Given the description of an element on the screen output the (x, y) to click on. 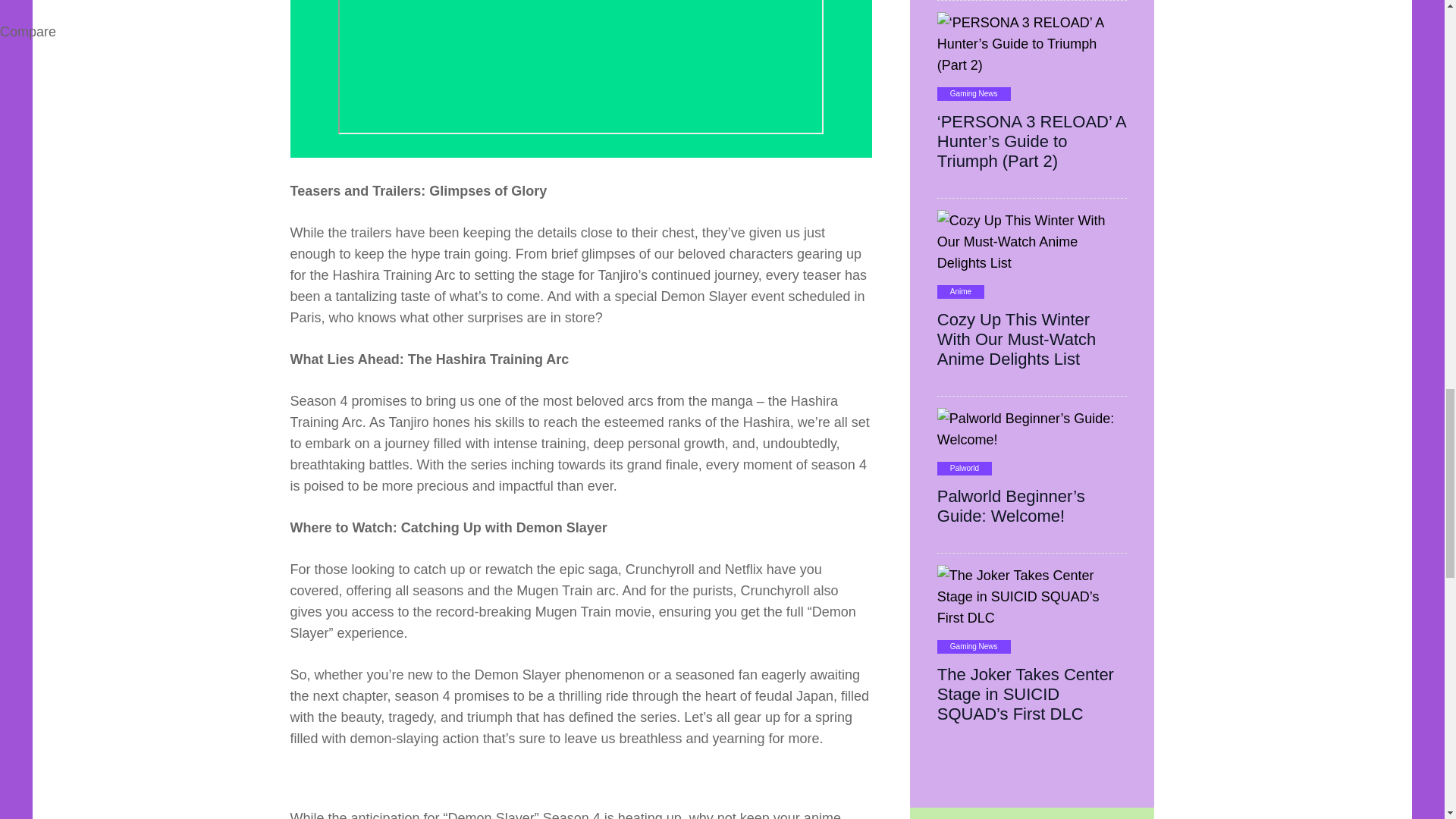
YouTube player (580, 67)
